Given the description of an element on the screen output the (x, y) to click on. 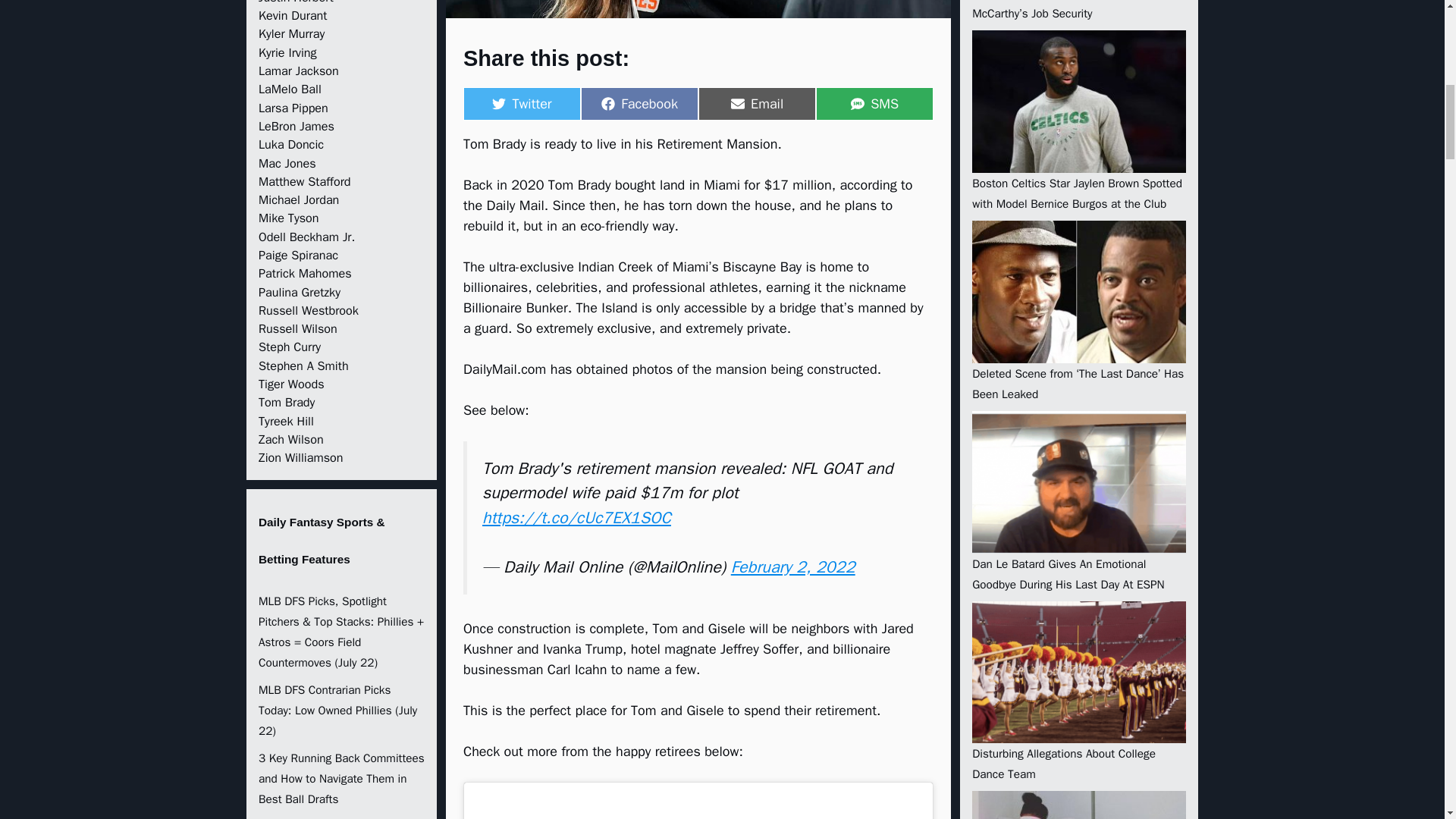
February 2, 2022 (521, 103)
